Given the description of an element on the screen output the (x, y) to click on. 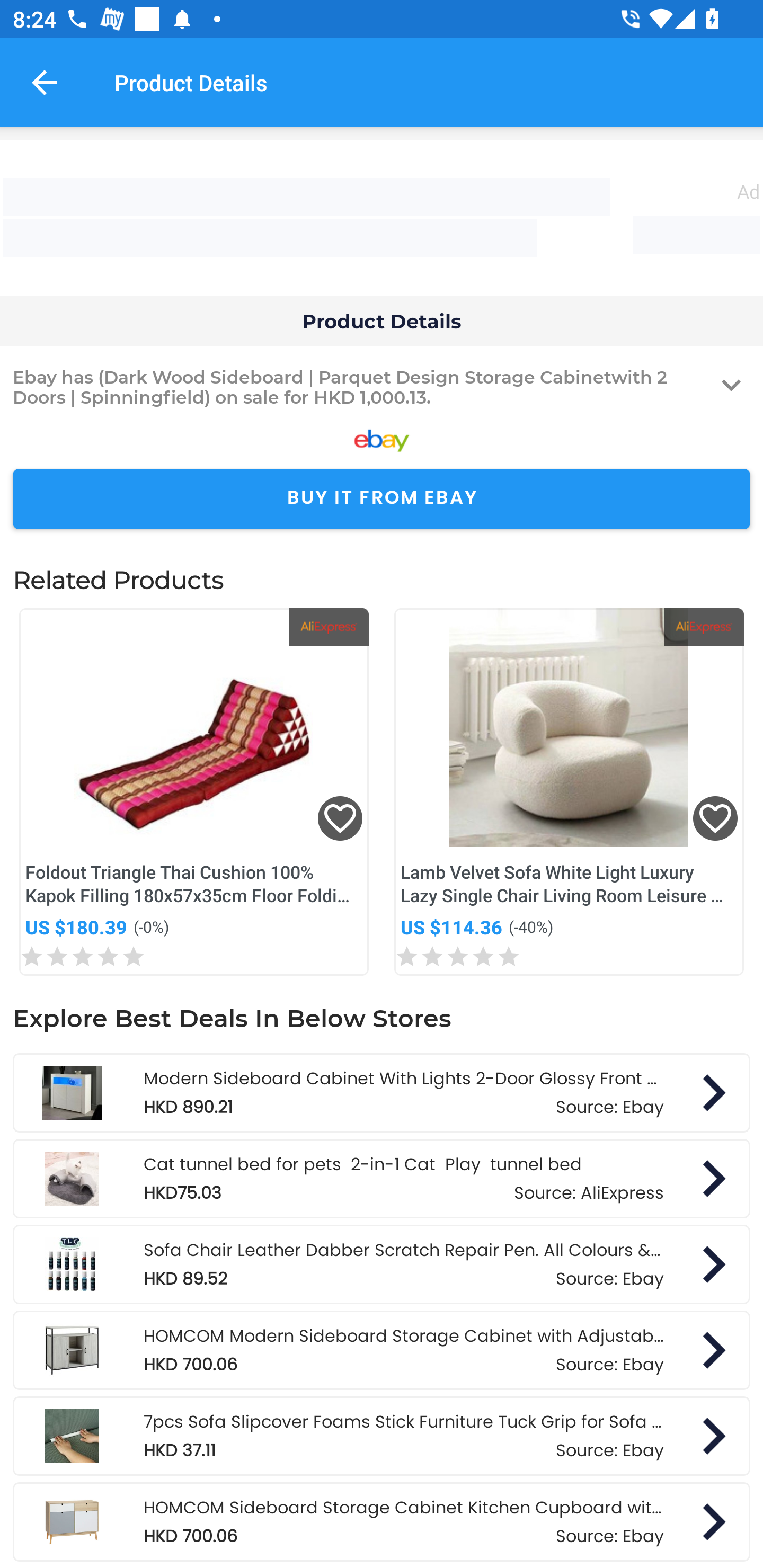
Navigate up (44, 82)
BUY IT FROM EBAY (381, 499)
